Given the description of an element on the screen output the (x, y) to click on. 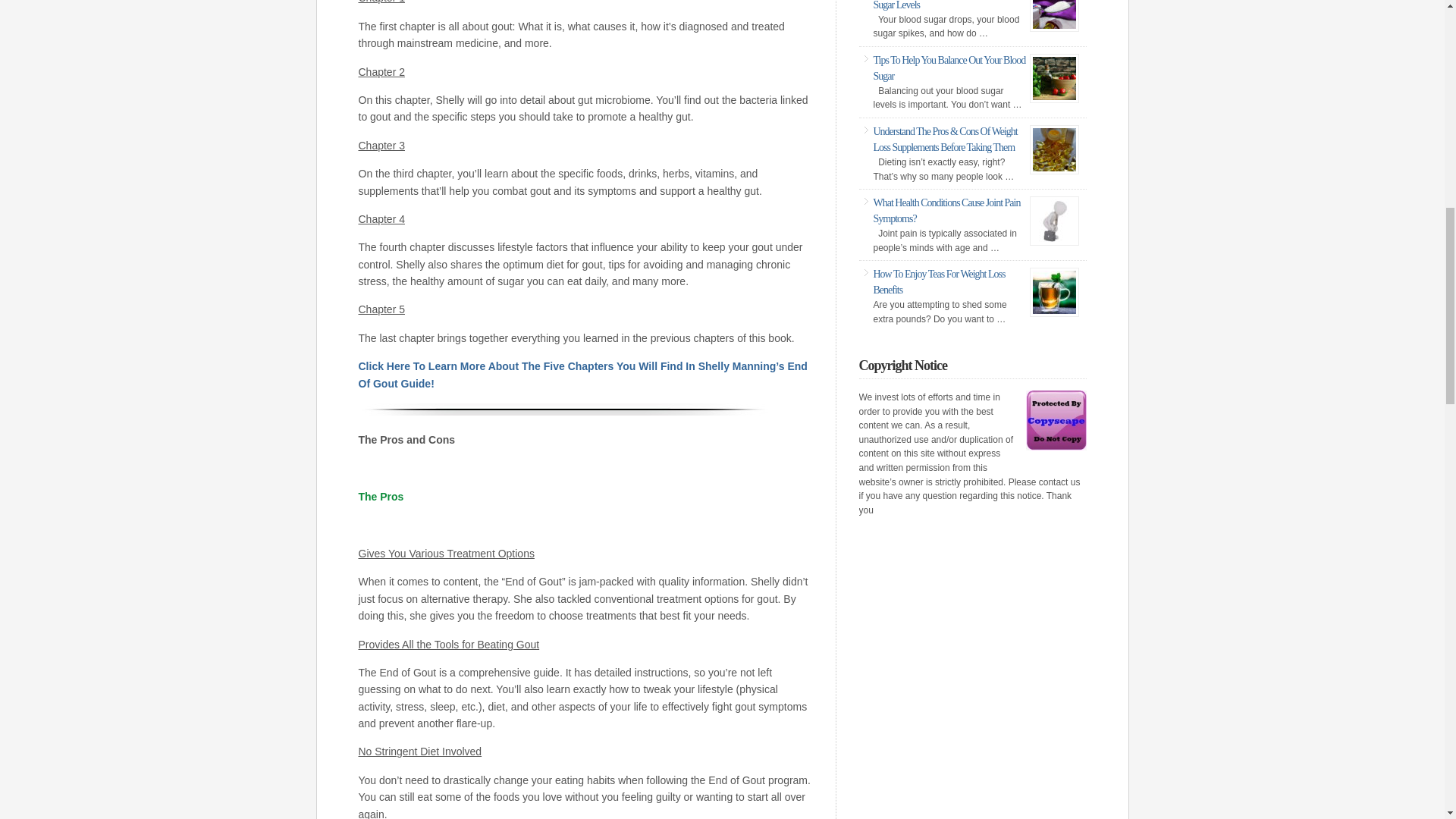
How To Enjoy Teas For Weight Loss Benefits (939, 281)
Permalink to Tips To Help You Balance Out Your Blood Sugar (949, 67)
Tips To Help You Balance Out Your Blood Sugar (949, 67)
Permalink to How To Enjoy Teas For Weight Loss Benefits (939, 281)
Tips To Help You Balance Out Your Blood Sugar Levels (949, 5)
What Health Conditions Cause Joint Pain Symptoms? (946, 210)
